Given the description of an element on the screen output the (x, y) to click on. 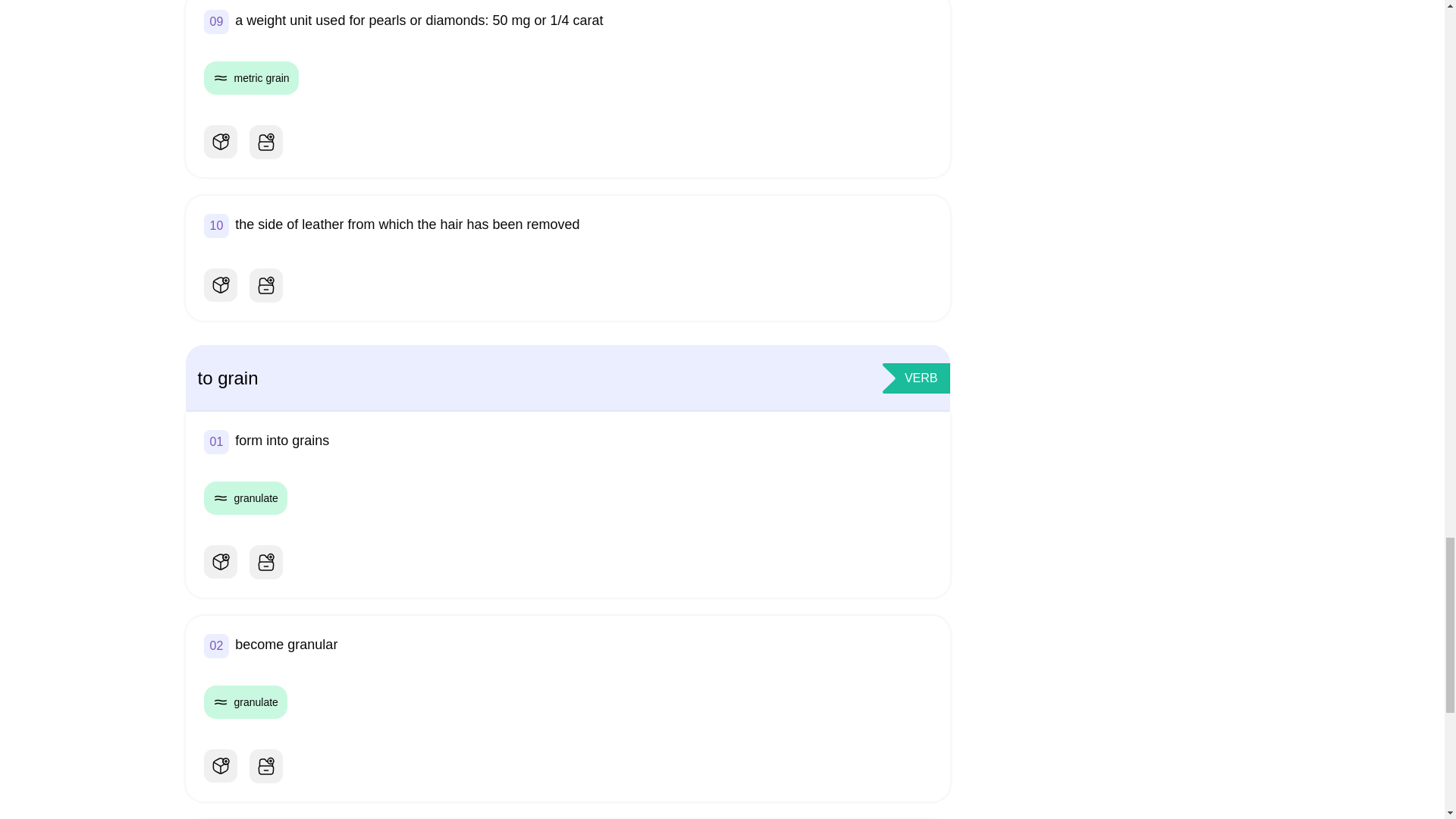
Add to your wordlist (265, 141)
Add to your wordlist (265, 765)
Add to your wordlist (265, 561)
Add to your wordlist (265, 285)
